Given the description of an element on the screen output the (x, y) to click on. 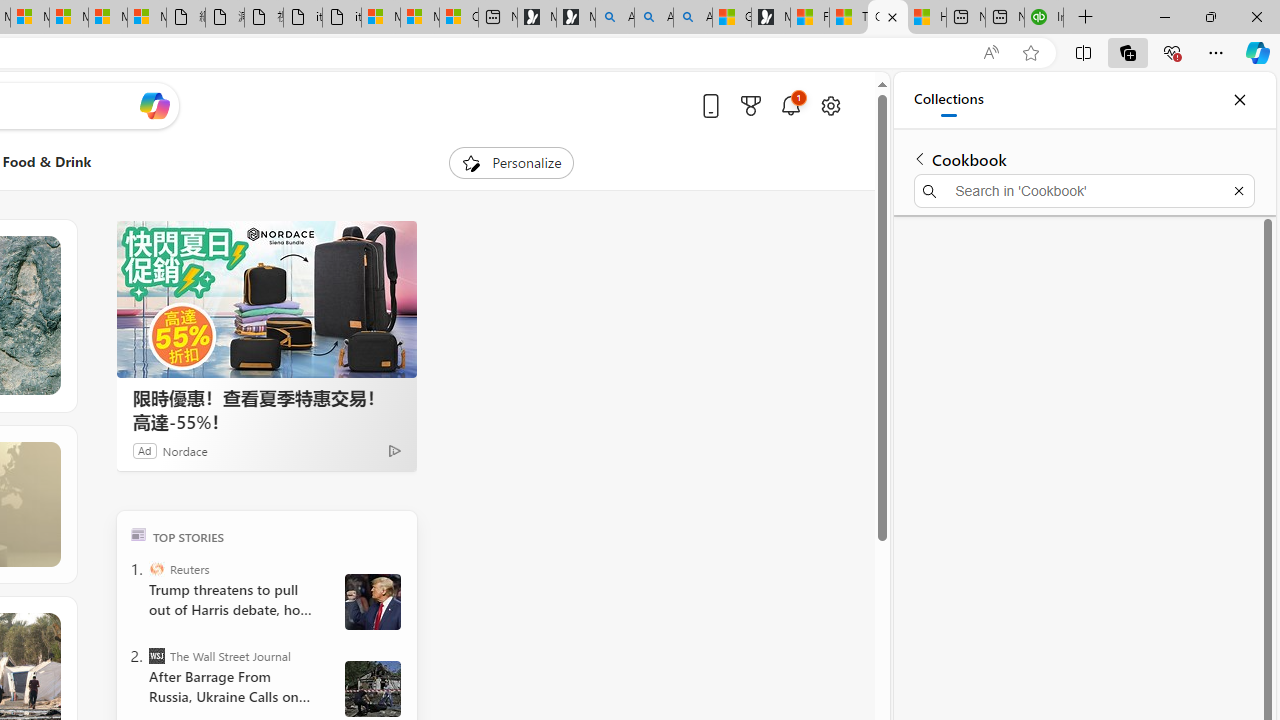
Microsoft rewards (749, 105)
TOP (138, 534)
Food & Drink (47, 162)
CNN - MSN (888, 17)
Personalize (511, 162)
Intuit QuickBooks Online - Quickbooks (1044, 17)
Alabama high school quarterback dies - Search (614, 17)
How to Use a TV as a Computer Monitor (926, 17)
